Given the description of an element on the screen output the (x, y) to click on. 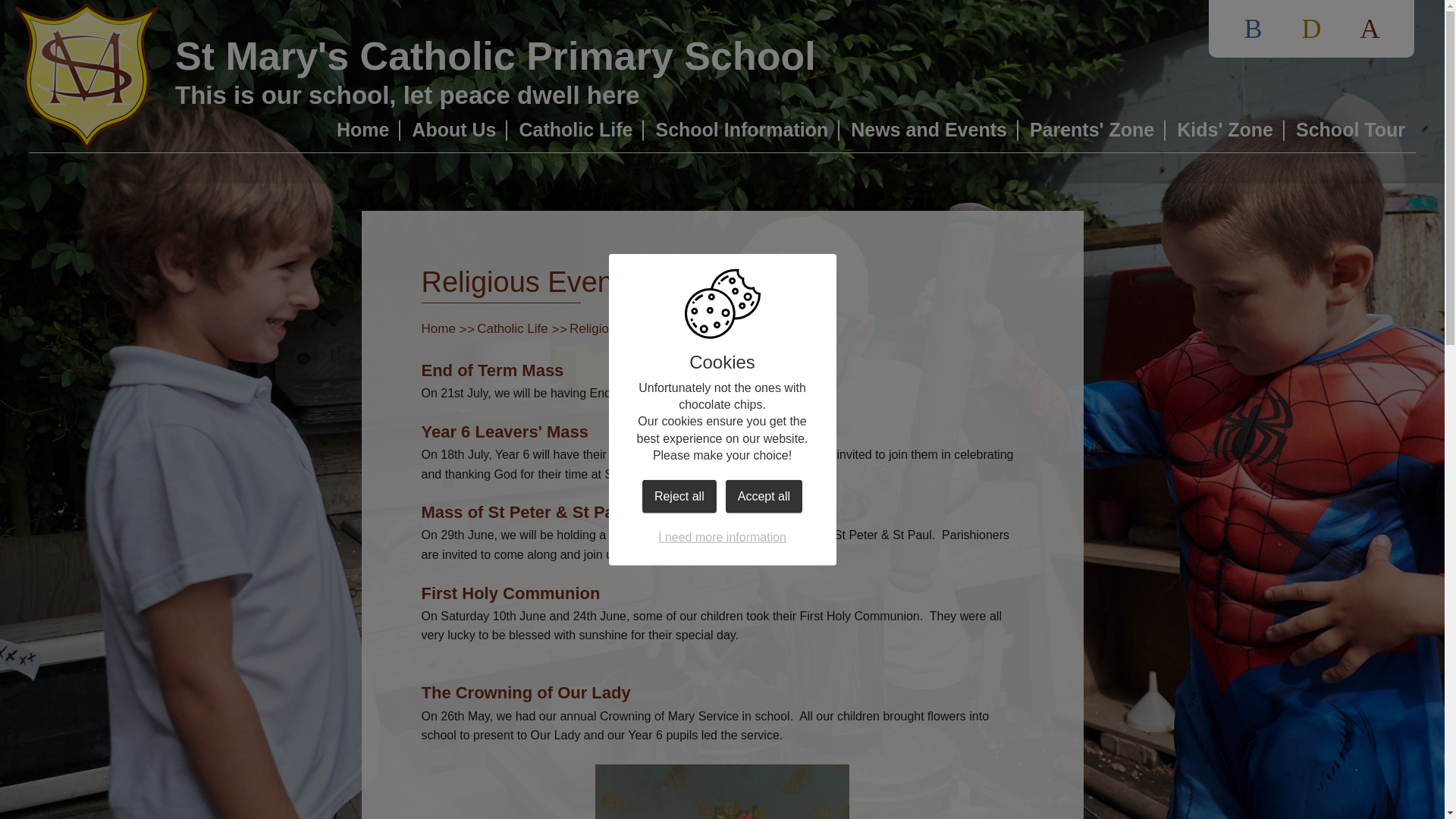
Catholic Life (574, 130)
School Information (741, 130)
About Us (453, 130)
B (1253, 28)
Home (362, 130)
Home Page (86, 76)
